Given the description of an element on the screen output the (x, y) to click on. 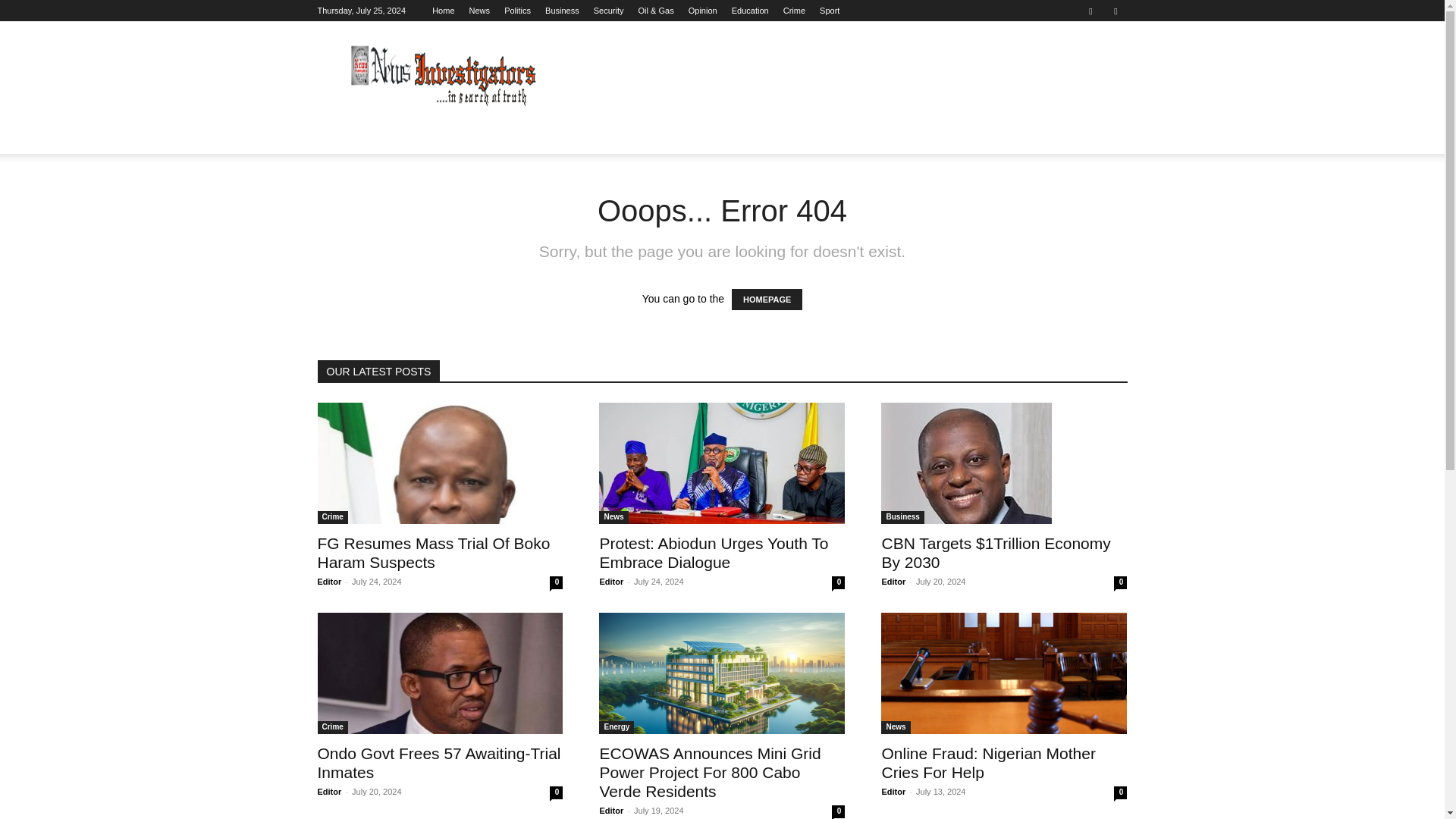
News (479, 10)
FG Resumes Mass Trial Of Boko Haram Suspects (439, 463)
Business (561, 10)
CRIME (896, 135)
Crime (794, 10)
SPORT (952, 135)
Security (609, 10)
Facebook (1090, 10)
SECURITY (607, 135)
Politics (517, 10)
Twitch (1114, 10)
Opinion (702, 10)
Protest: Abiodun Urges Youth To Embrace Dialogue (721, 463)
FG Resumes Mass Trial Of Boko Haram Suspects (433, 552)
